Given the description of an element on the screen output the (x, y) to click on. 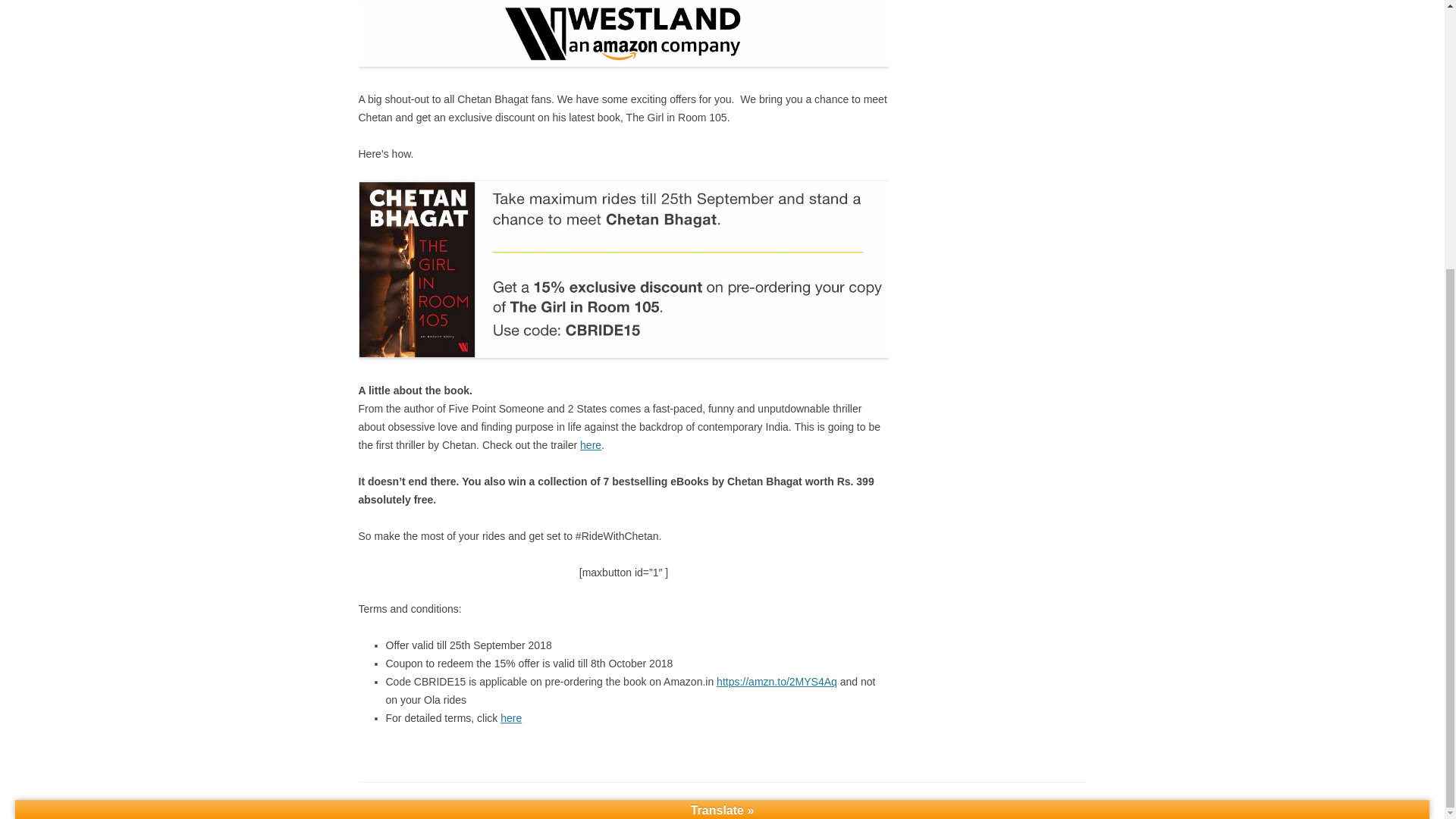
here (590, 444)
here (510, 717)
